Given the description of an element on the screen output the (x, y) to click on. 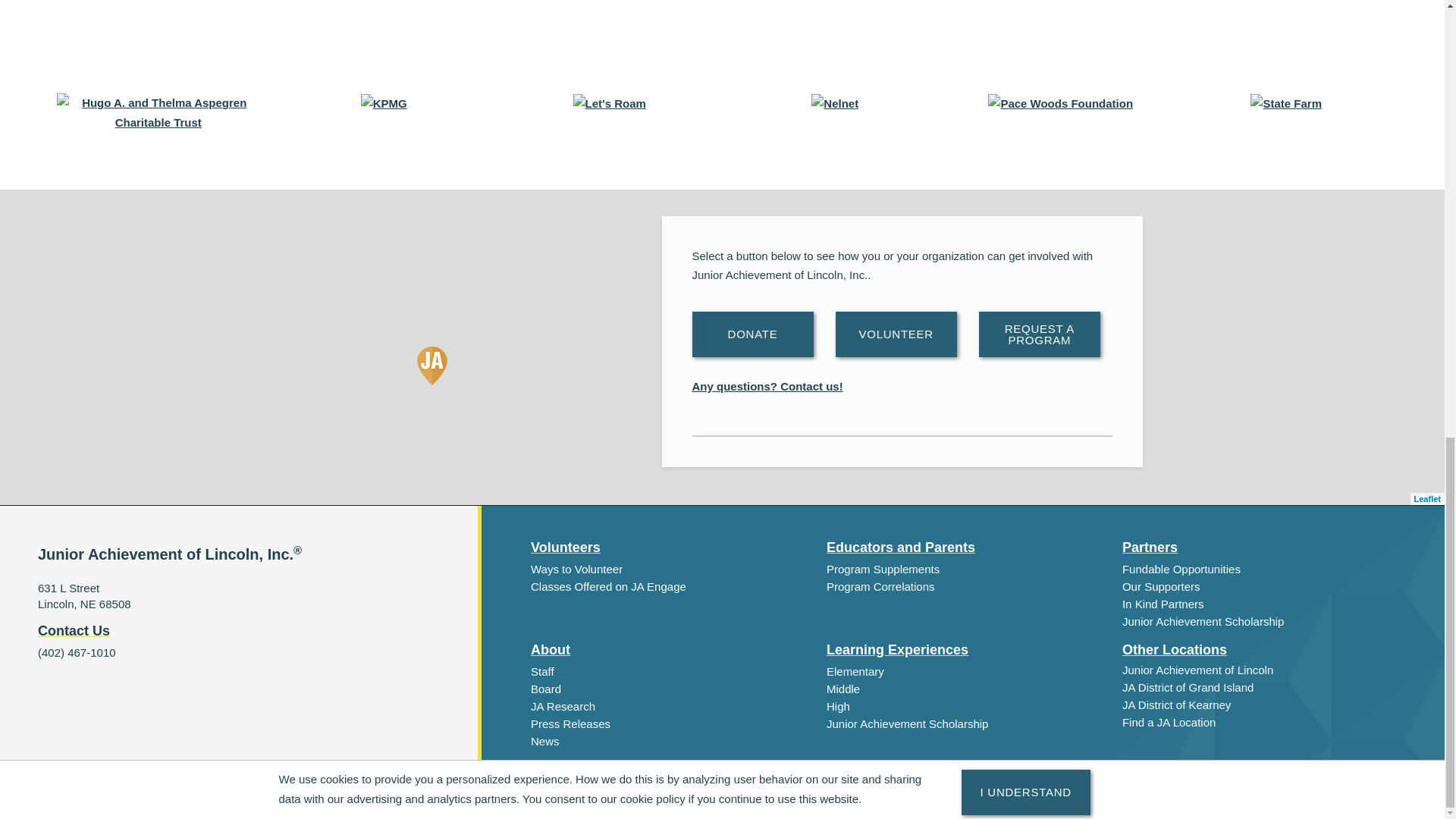
Educators and Parents (901, 547)
VOLUNTEER (895, 334)
Leaflet (1427, 498)
Program Correlations (880, 586)
DONATE (751, 334)
Ways to Volunteer (577, 569)
Contact Us (73, 630)
Learn more about how KPMG supports us (384, 102)
REQUEST A PROGRAM (1039, 334)
Classes Offered on JA Engage (608, 586)
